Given the description of an element on the screen output the (x, y) to click on. 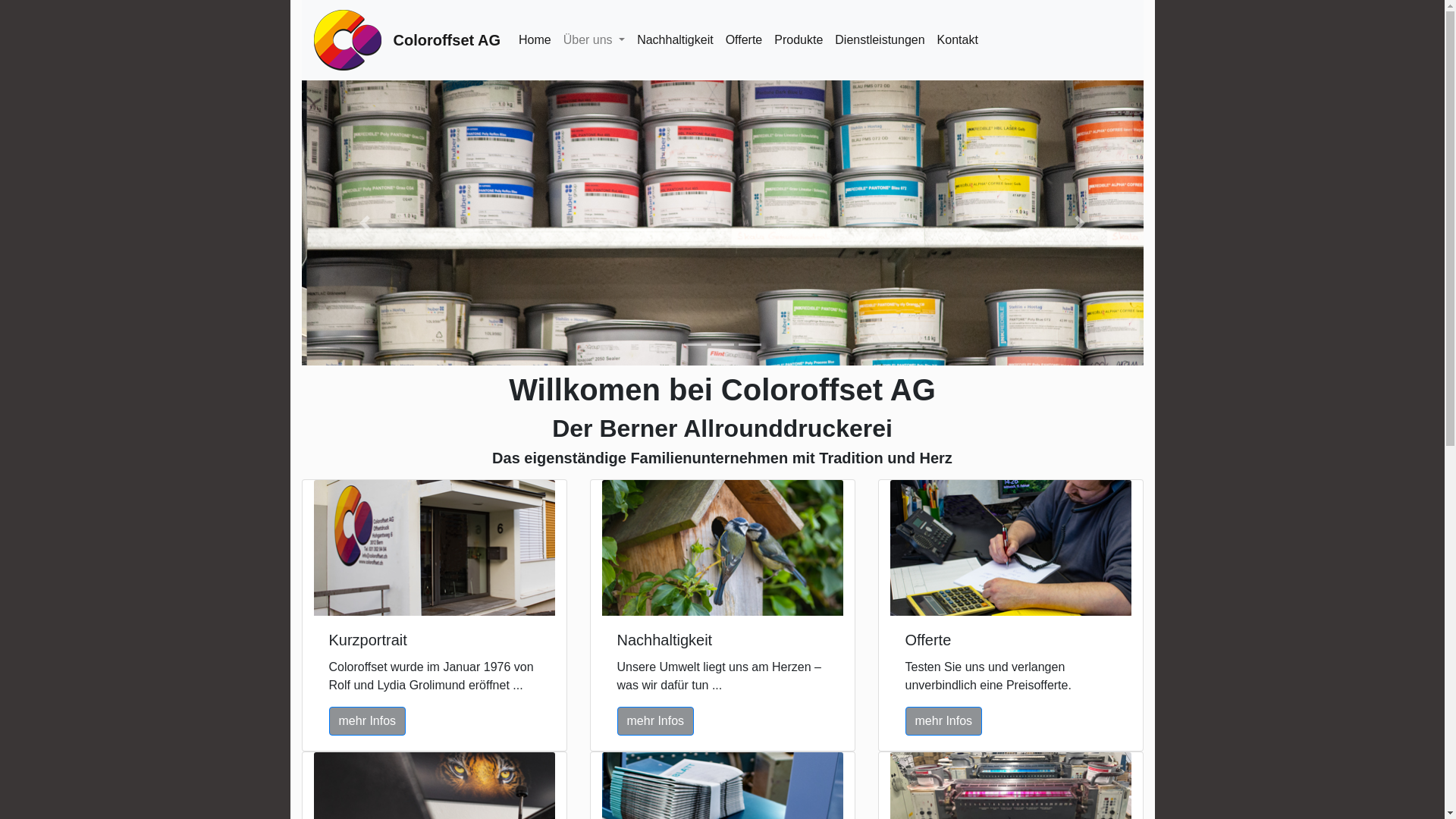
mehr Infos Element type: text (655, 721)
Coloroffset AG Element type: text (445, 40)
Previous Element type: text (364, 222)
Next Element type: text (1079, 222)
Offerte
(current) Element type: text (743, 40)
mehr Infos Element type: text (367, 721)
Produkte
(current) Element type: text (798, 40)
mehr Infos Element type: text (943, 721)
Kontakt
(current) Element type: text (957, 40)
Home
(current) Element type: text (534, 40)
Dienstleistungen
(current) Element type: text (879, 40)
Nachhaltigkeit
(current) Element type: text (674, 40)
